Given the description of an element on the screen output the (x, y) to click on. 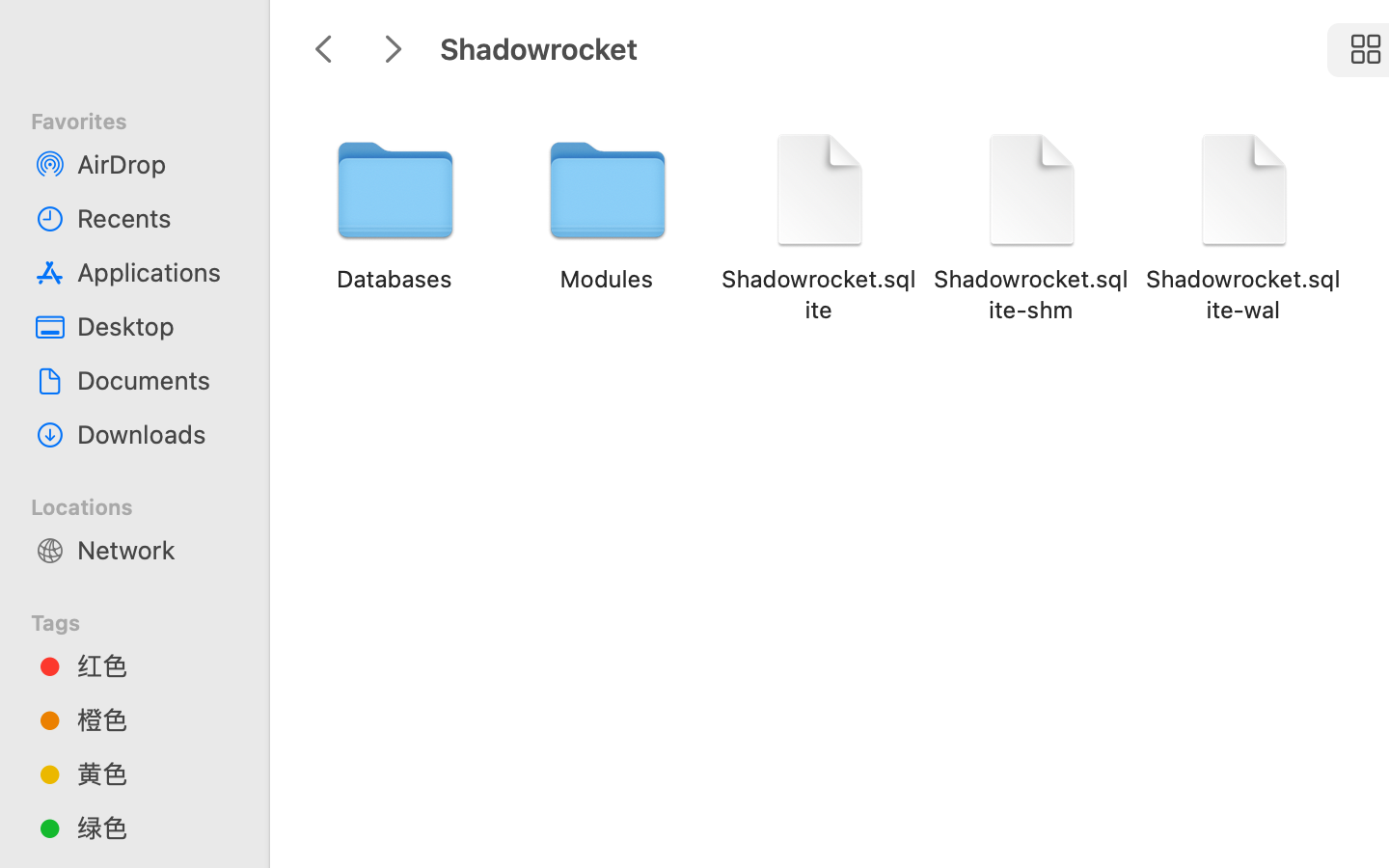
Documents Element type: AXStaticText (155, 379)
Network Element type: AXStaticText (155, 549)
Tags Element type: AXStaticText (145, 619)
绿色 Element type: AXStaticText (155, 827)
橙色 Element type: AXStaticText (155, 719)
